Given the description of an element on the screen output the (x, y) to click on. 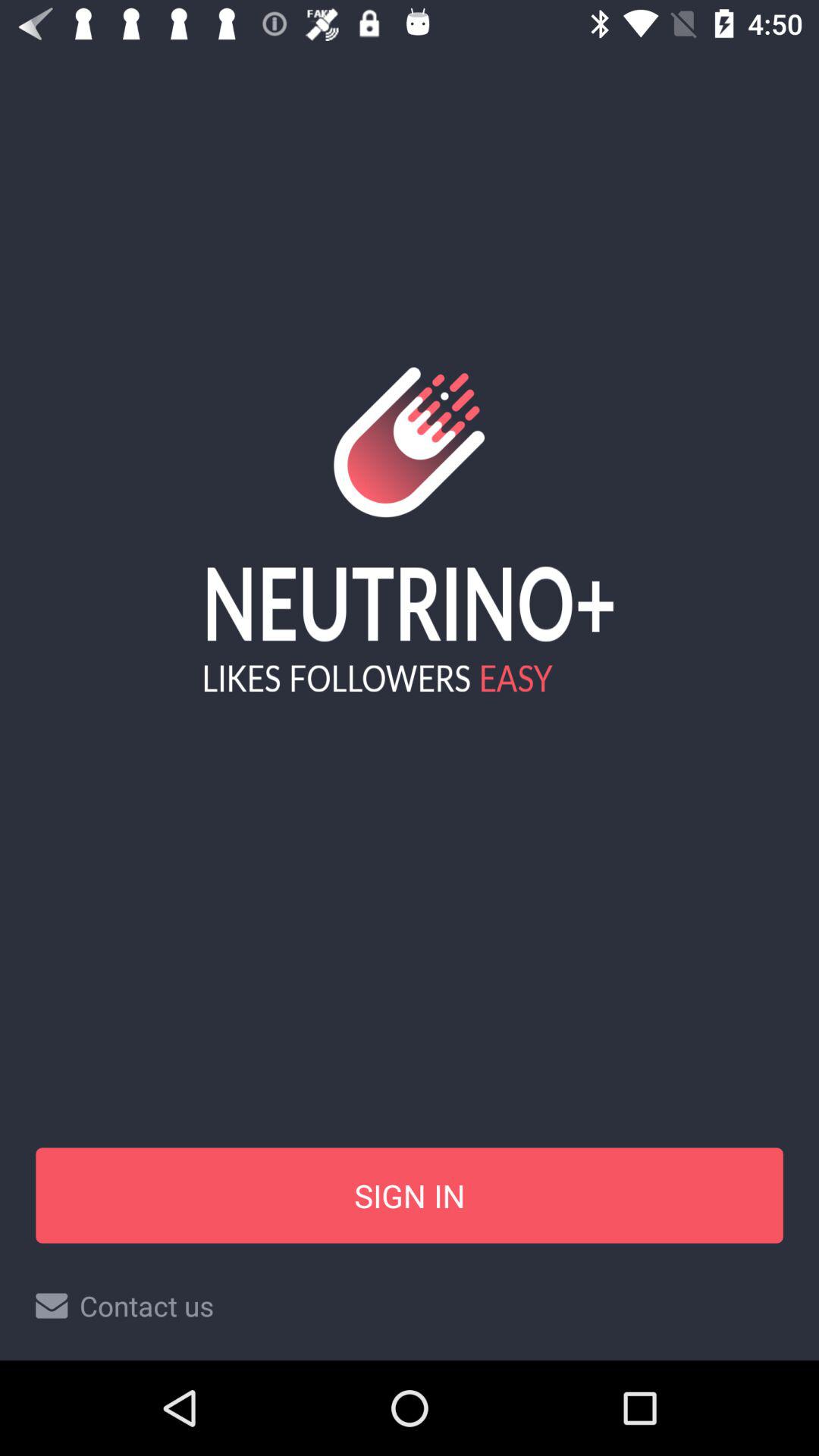
jump until sign in item (409, 1195)
